Given the description of an element on the screen output the (x, y) to click on. 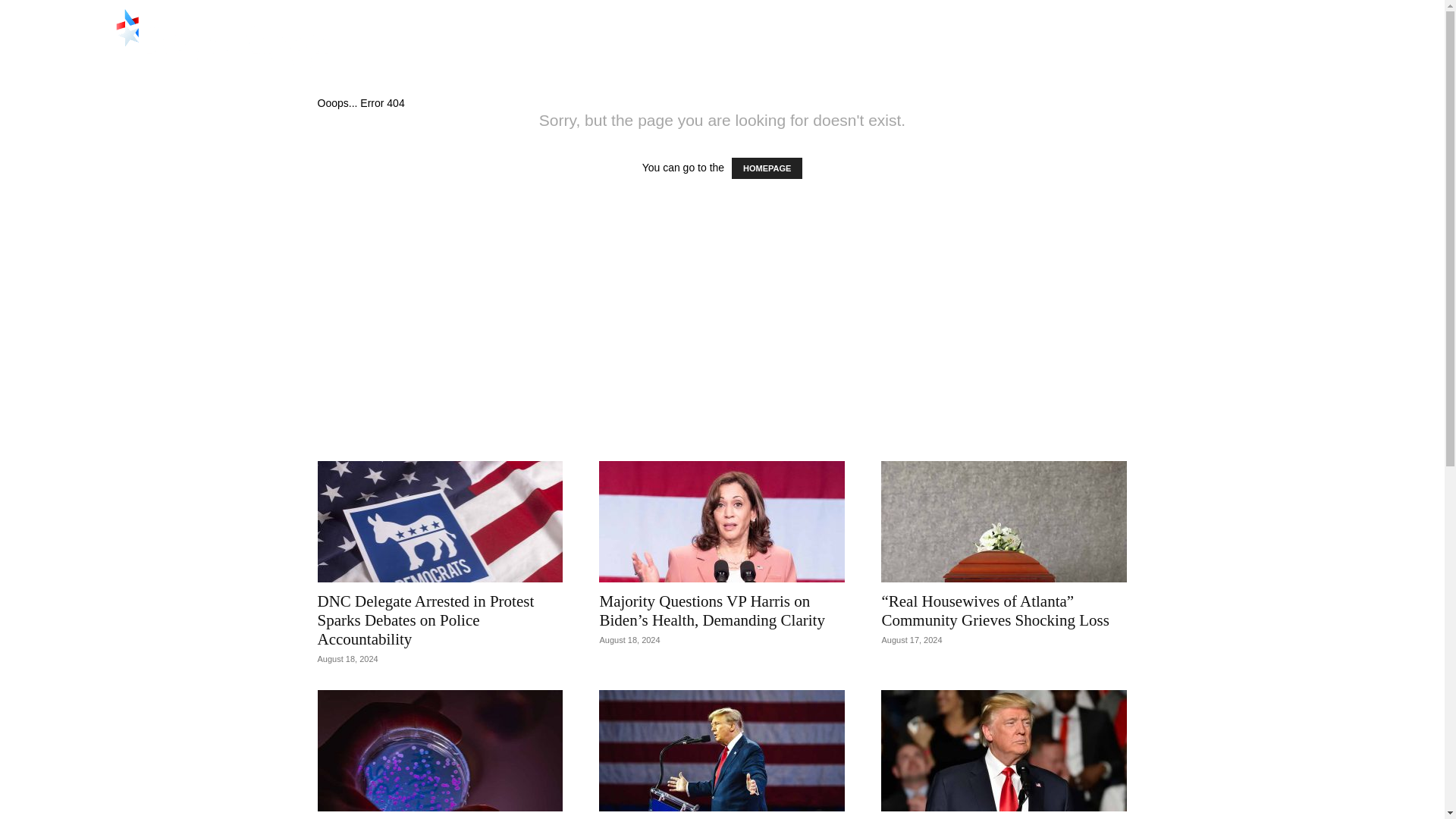
Featured Stories (1071, 50)
Republican Press (223, 39)
Daily Press (968, 50)
HOMEPAGE (767, 168)
About Us (1169, 50)
